Given the description of an element on the screen output the (x, y) to click on. 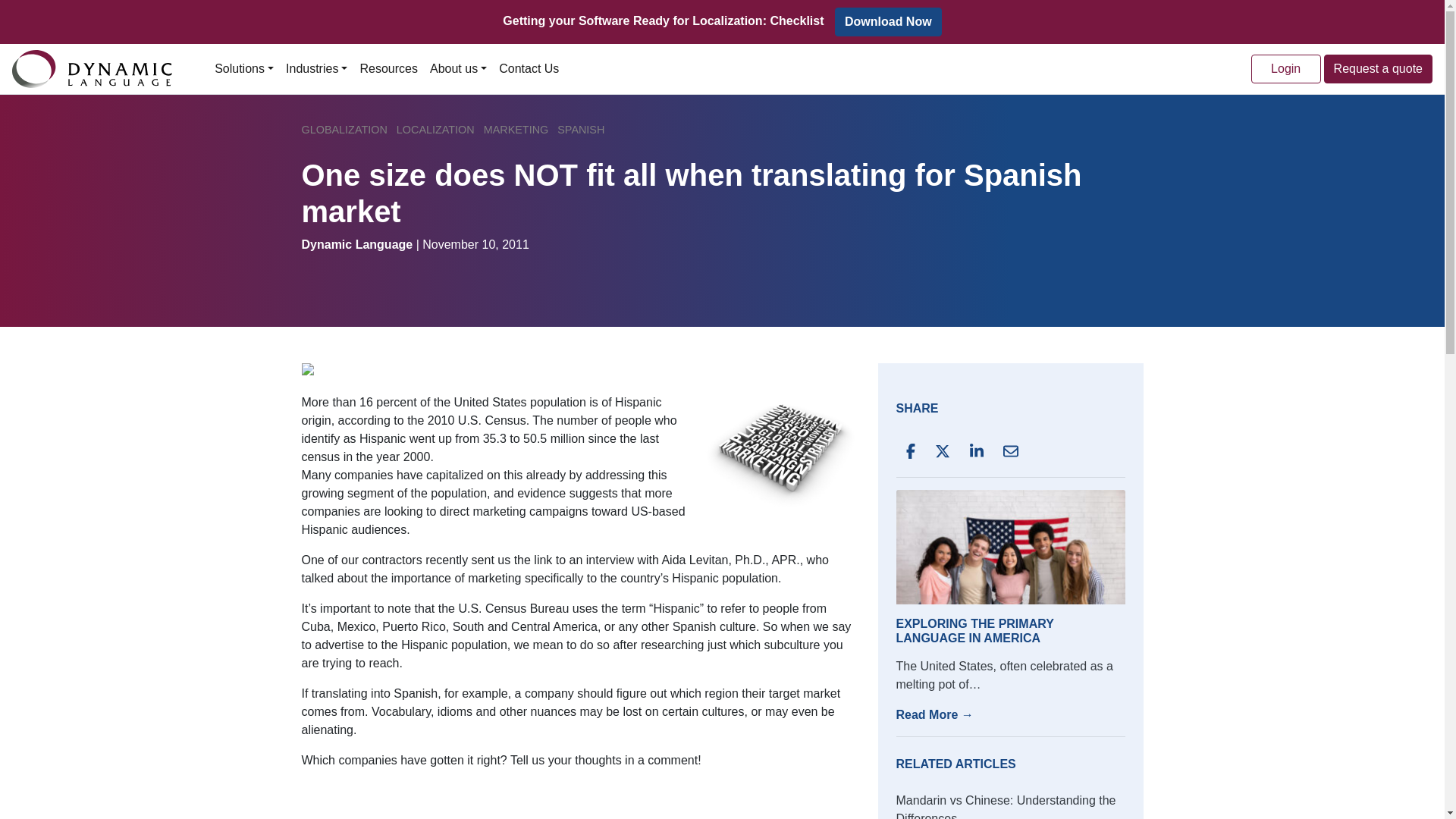
Solutions (243, 69)
About us (458, 69)
Contact Us (528, 69)
Download Now (888, 21)
Resources (388, 69)
Translation (779, 449)
   Login    (1285, 68)
Industries (316, 69)
GLOBALIZATION (344, 129)
Request a quote (1377, 68)
